Given the description of an element on the screen output the (x, y) to click on. 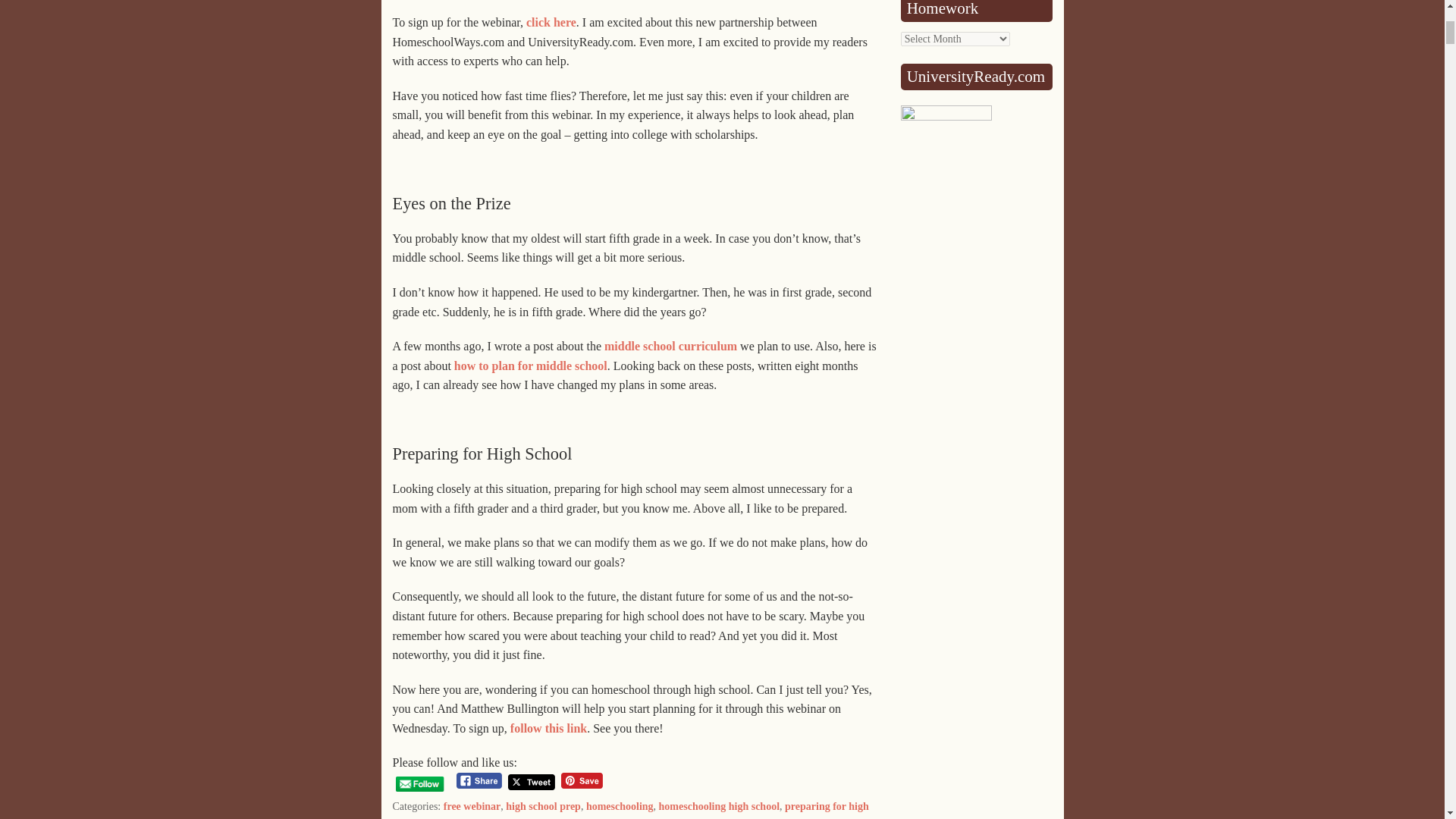
Pin Share (581, 780)
Facebook Share (479, 780)
click here (550, 21)
Tweet (531, 781)
